Given the description of an element on the screen output the (x, y) to click on. 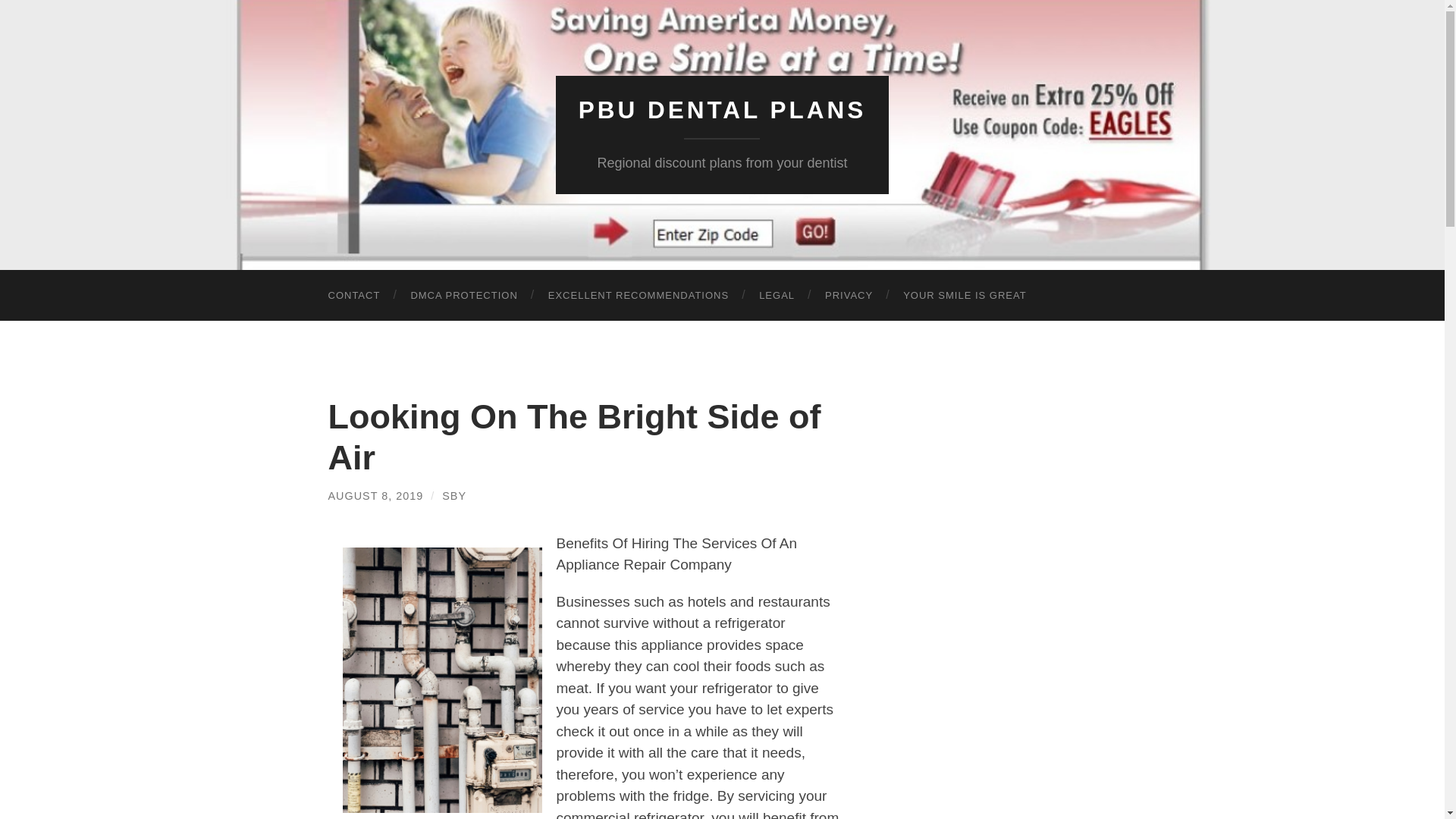
PRIVACY (848, 295)
AUGUST 8, 2019 (375, 495)
Posts by sby (453, 495)
PBU DENTAL PLANS (722, 109)
LEGAL (776, 295)
SBY (453, 495)
YOUR SMILE IS GREAT (965, 295)
EXCELLENT RECOMMENDATIONS (638, 295)
CONTACT (353, 295)
DMCA PROTECTION (463, 295)
